Given the description of an element on the screen output the (x, y) to click on. 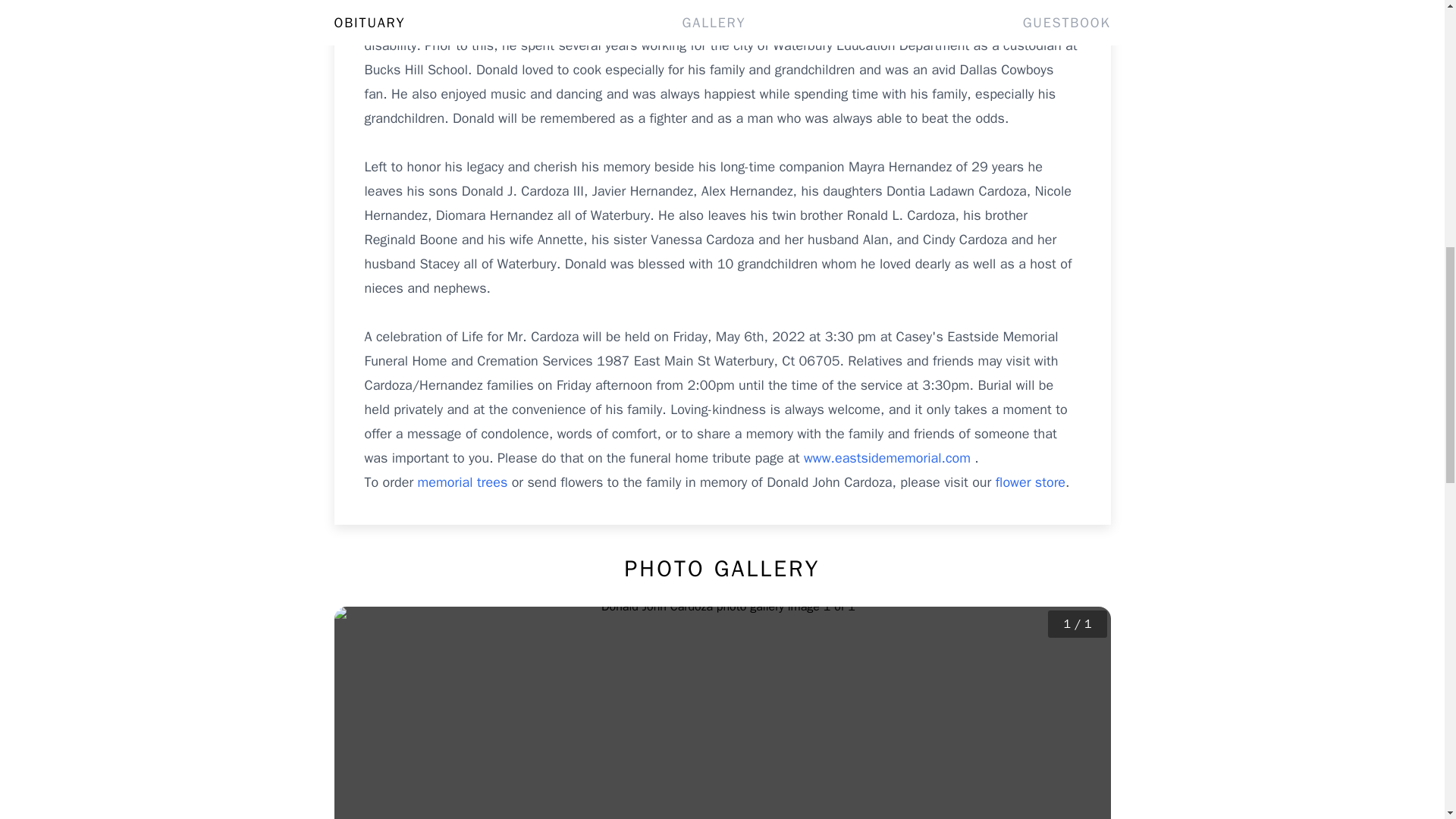
Click to open in a new window or tab (888, 457)
www.eastsidememorial.com (888, 457)
memorial trees (462, 482)
flower store (1030, 482)
